Given the description of an element on the screen output the (x, y) to click on. 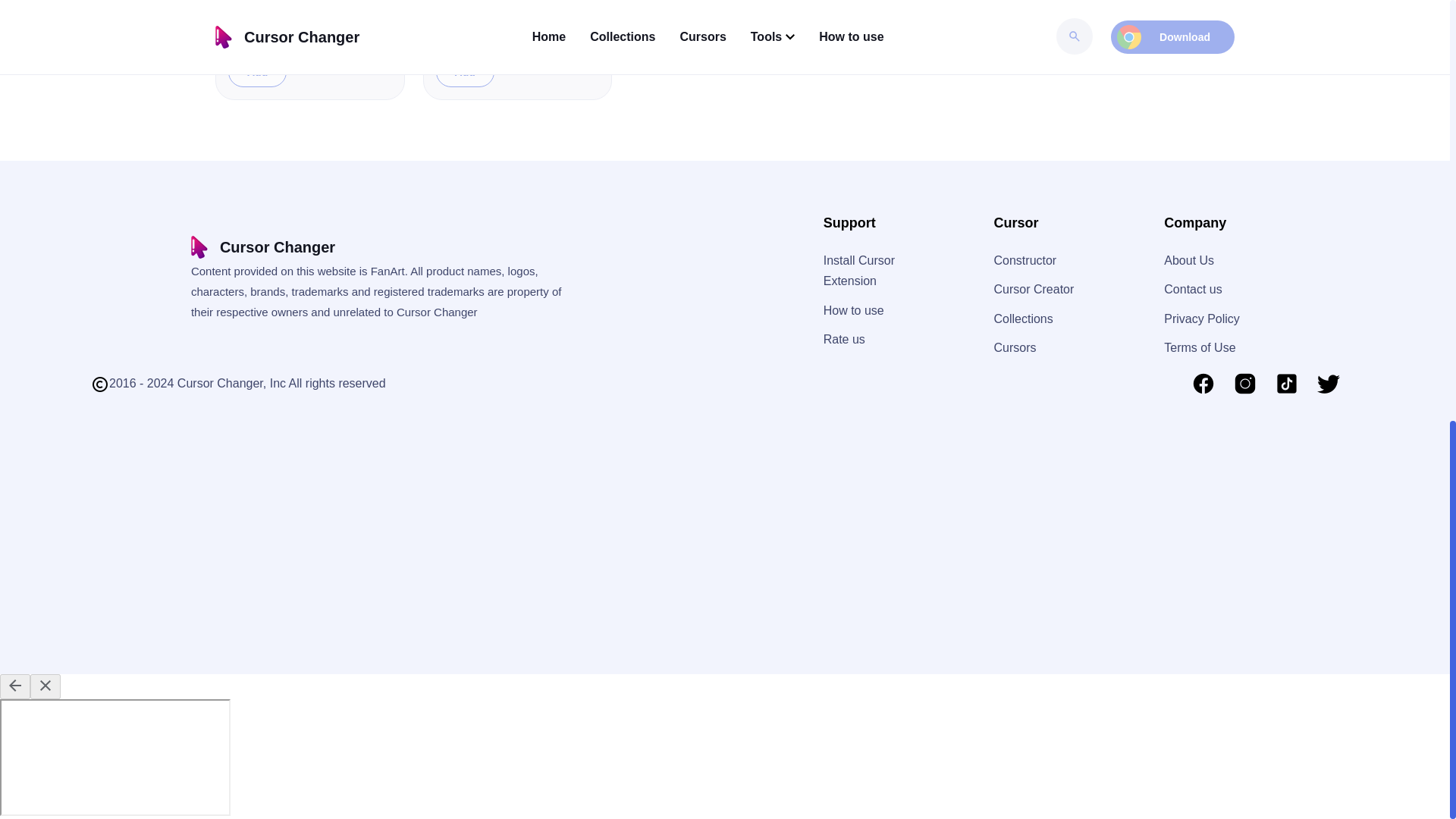
Collections (1022, 318)
Add (257, 71)
About Us (1188, 259)
Add (465, 71)
Contact us (1192, 288)
Cursor Creator (1033, 288)
Install Cursor Extension (859, 270)
Cursors (1013, 347)
Rate us (844, 338)
Constructor (1024, 259)
How to use (853, 309)
Cursor Changer (262, 247)
